Given the description of an element on the screen output the (x, y) to click on. 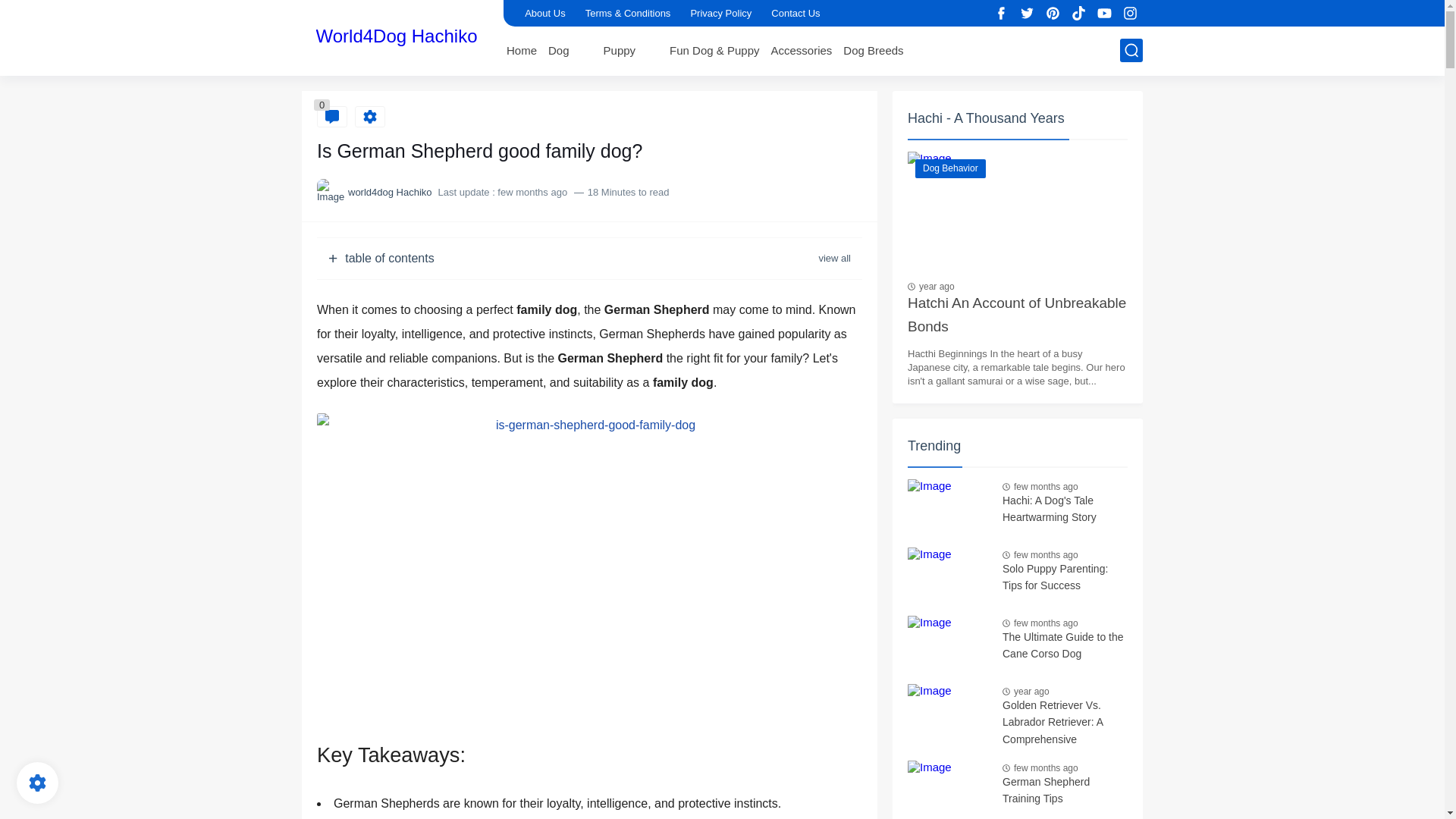
youtube (1103, 13)
Contact Us (795, 12)
Dog (558, 50)
About Us (544, 12)
Dog (558, 50)
Puppy (620, 50)
Home (521, 50)
instagram (1129, 13)
Privacy Policy (720, 12)
Dog Breeds (872, 50)
